Given the description of an element on the screen output the (x, y) to click on. 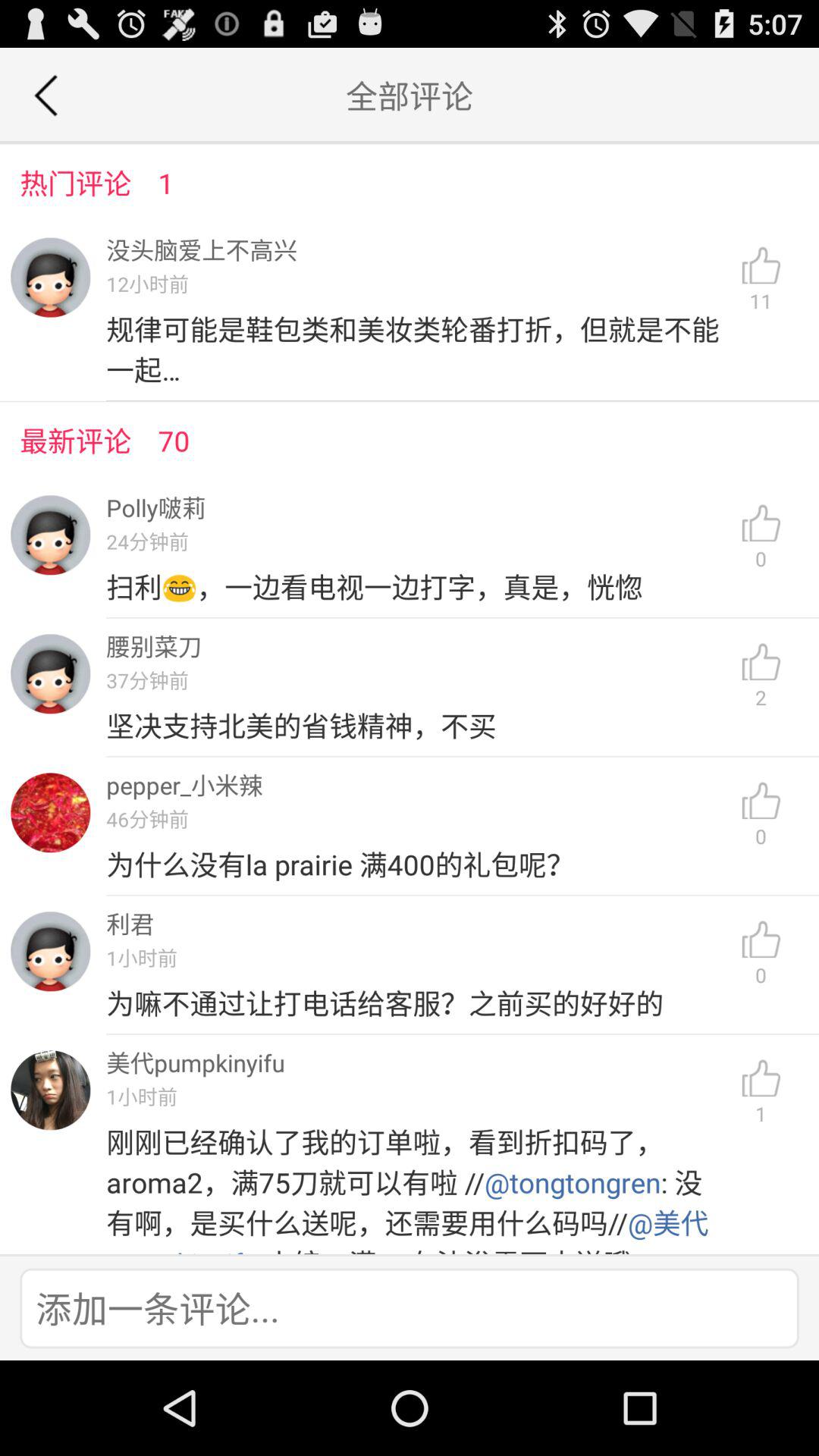
click the icon next to 0 (417, 864)
